Given the description of an element on the screen output the (x, y) to click on. 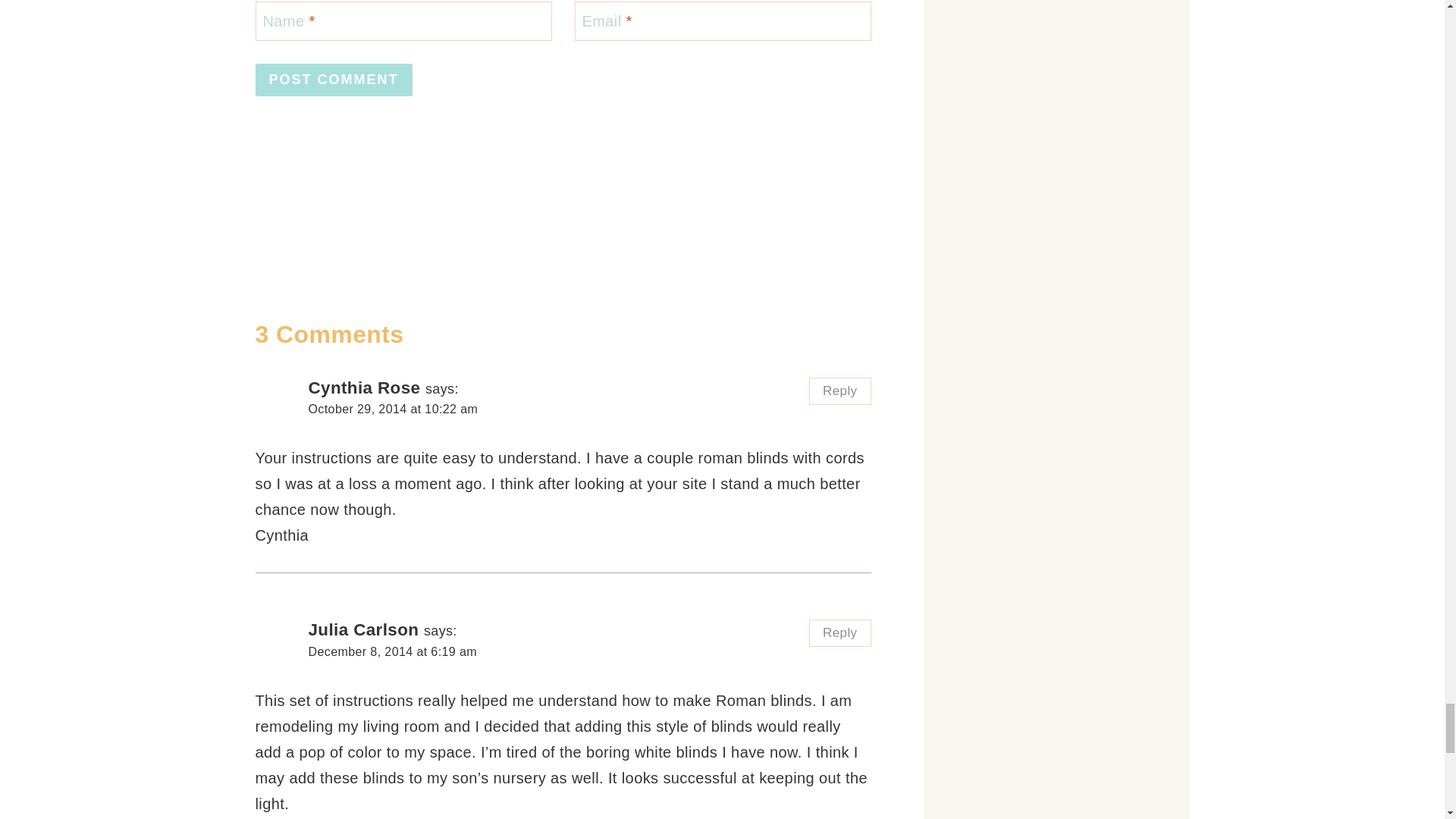
Post Comment (333, 79)
